Given the description of an element on the screen output the (x, y) to click on. 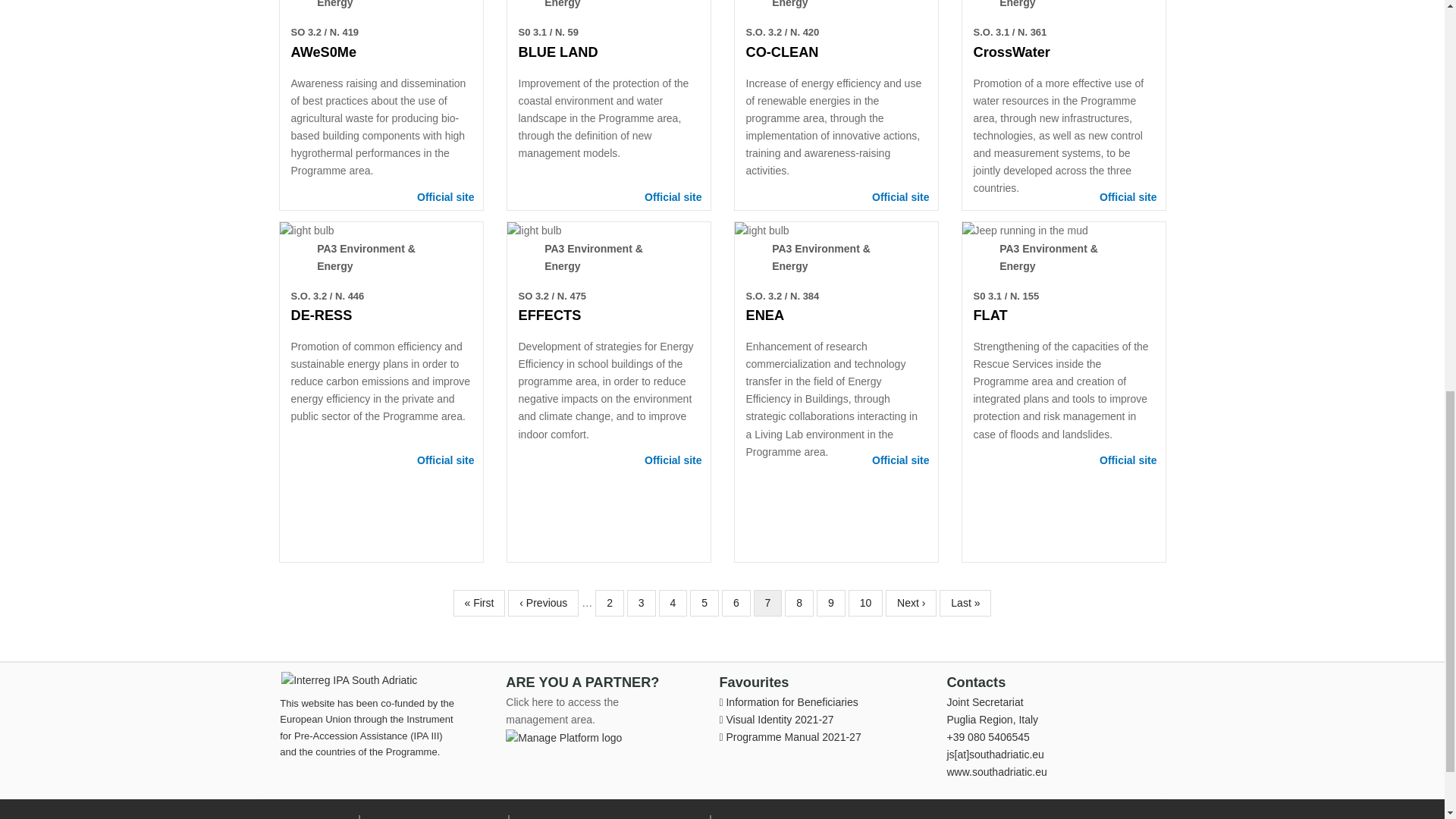
Official site (900, 196)
Promotion of common efficiency and sustainable energy (306, 230)
Official site (673, 196)
Official site (445, 196)
Go to previous page (543, 602)
Development of strategies for Energy Efficiency  (533, 230)
Go to first page (478, 602)
Go to page 2 (609, 602)
